Given the description of an element on the screen output the (x, y) to click on. 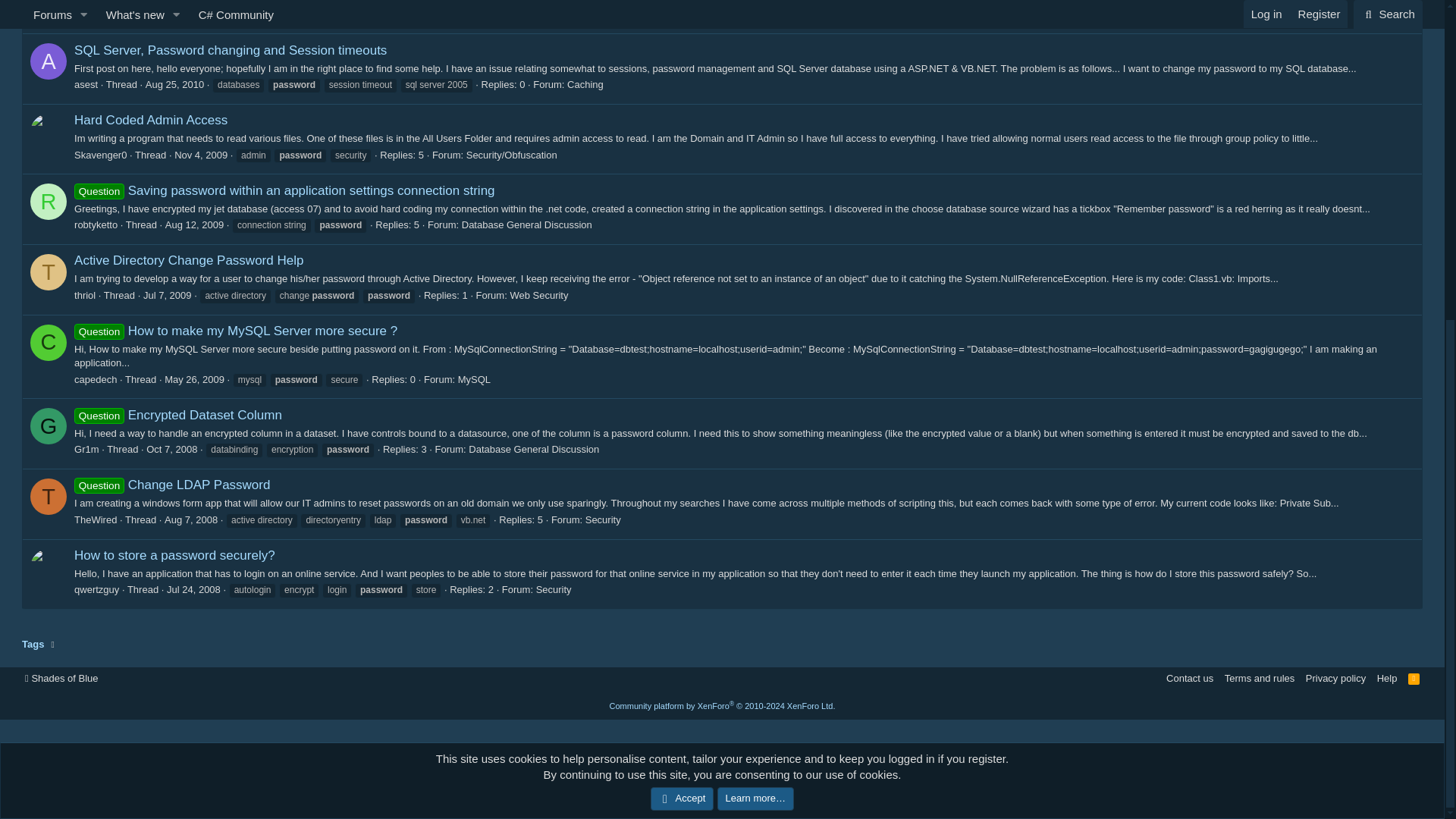
RSS (1413, 677)
Aug 25, 2010 at 10:19 AM (174, 84)
Jul 7, 2009 at 4:19 PM (167, 295)
May 26, 2009 at 3:22 AM (194, 378)
Aug 7, 2008 at 4:19 PM (190, 519)
Oct 7, 2008 at 7:12 AM (171, 449)
Oct 11, 2010 at 3:41 PM (208, 13)
Jul 24, 2008 at 4:12 PM (194, 589)
Nov 4, 2009 at 8:42 AM (200, 154)
Aug 12, 2009 at 8:39 AM (194, 224)
